Given the description of an element on the screen output the (x, y) to click on. 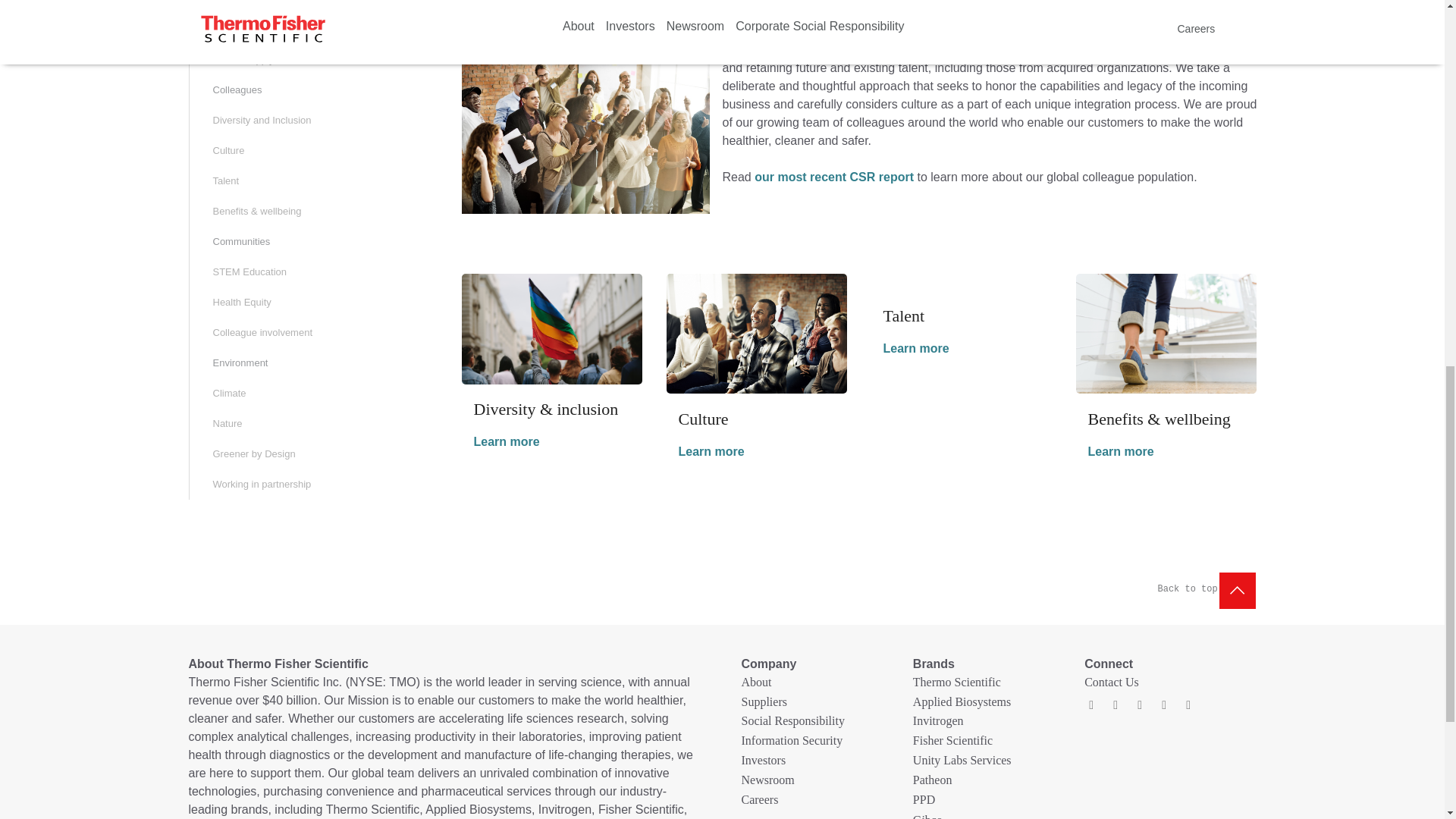
Quality (313, 7)
Environment, Health and Safety (313, 29)
Global Supply Chain (313, 60)
